Given the description of an element on the screen output the (x, y) to click on. 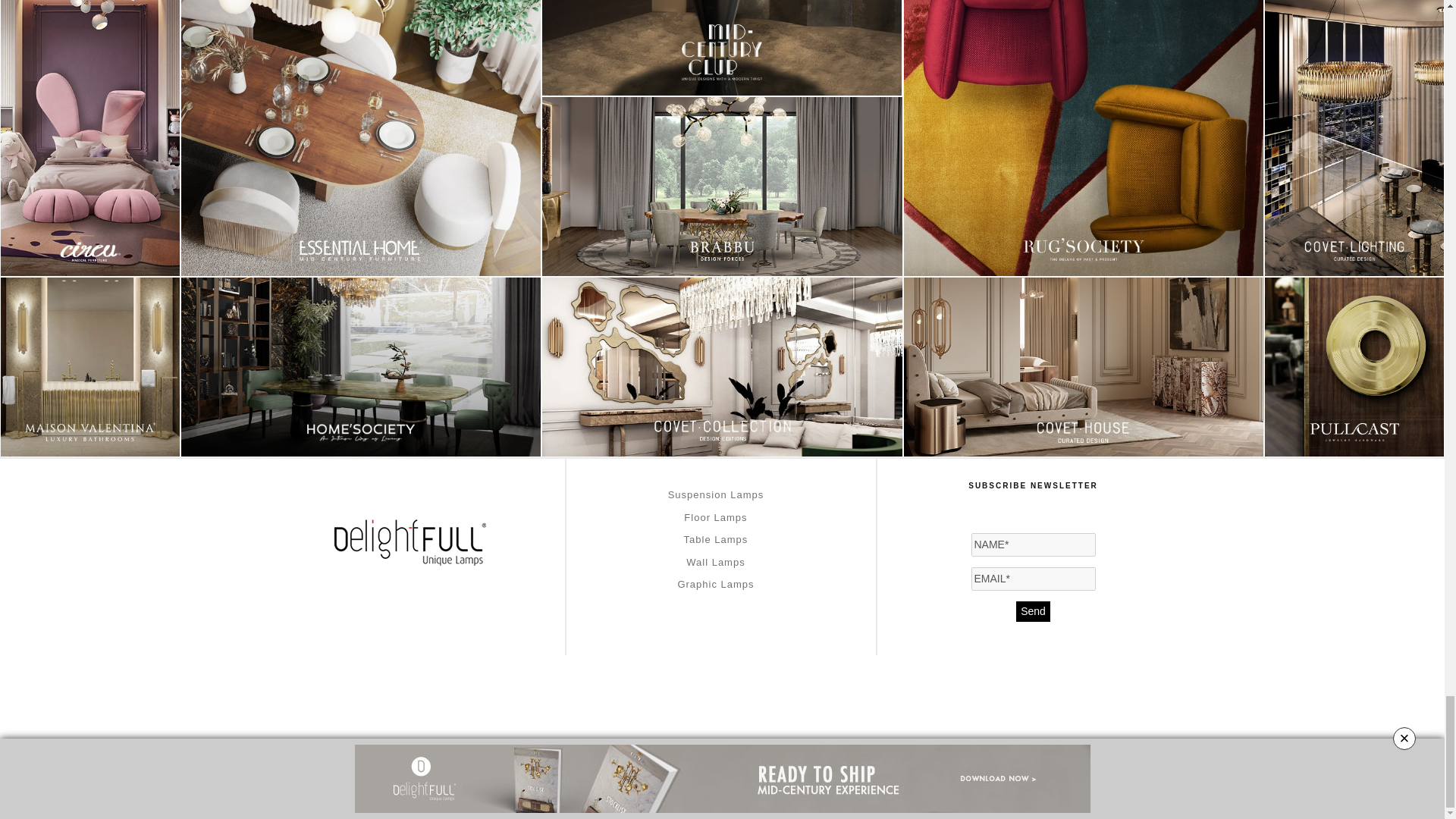
Send (1032, 611)
